Given the description of an element on the screen output the (x, y) to click on. 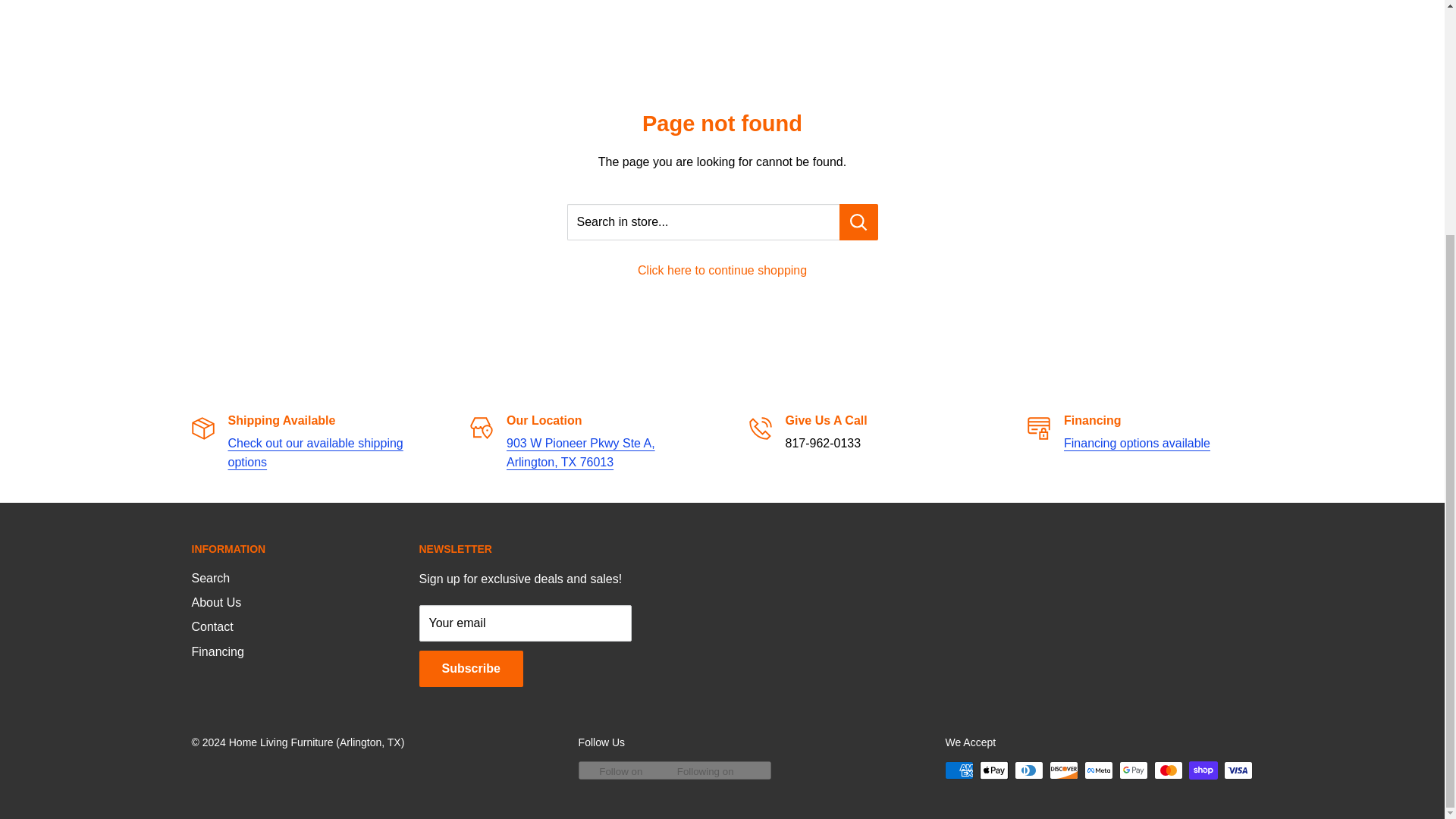
Contact (580, 452)
Contact (315, 452)
Financing (1136, 442)
